Given the description of an element on the screen output the (x, y) to click on. 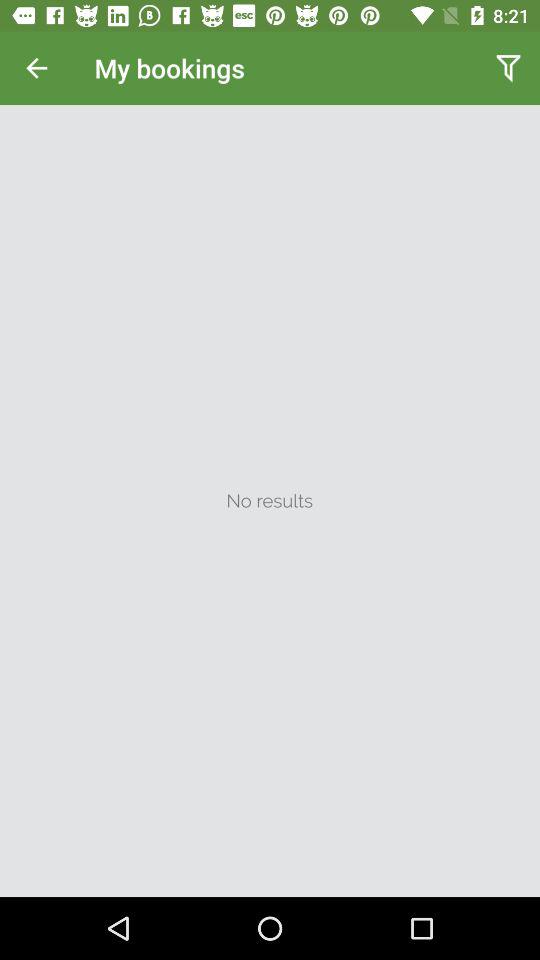
launch the icon to the right of my bookings (508, 67)
